Given the description of an element on the screen output the (x, y) to click on. 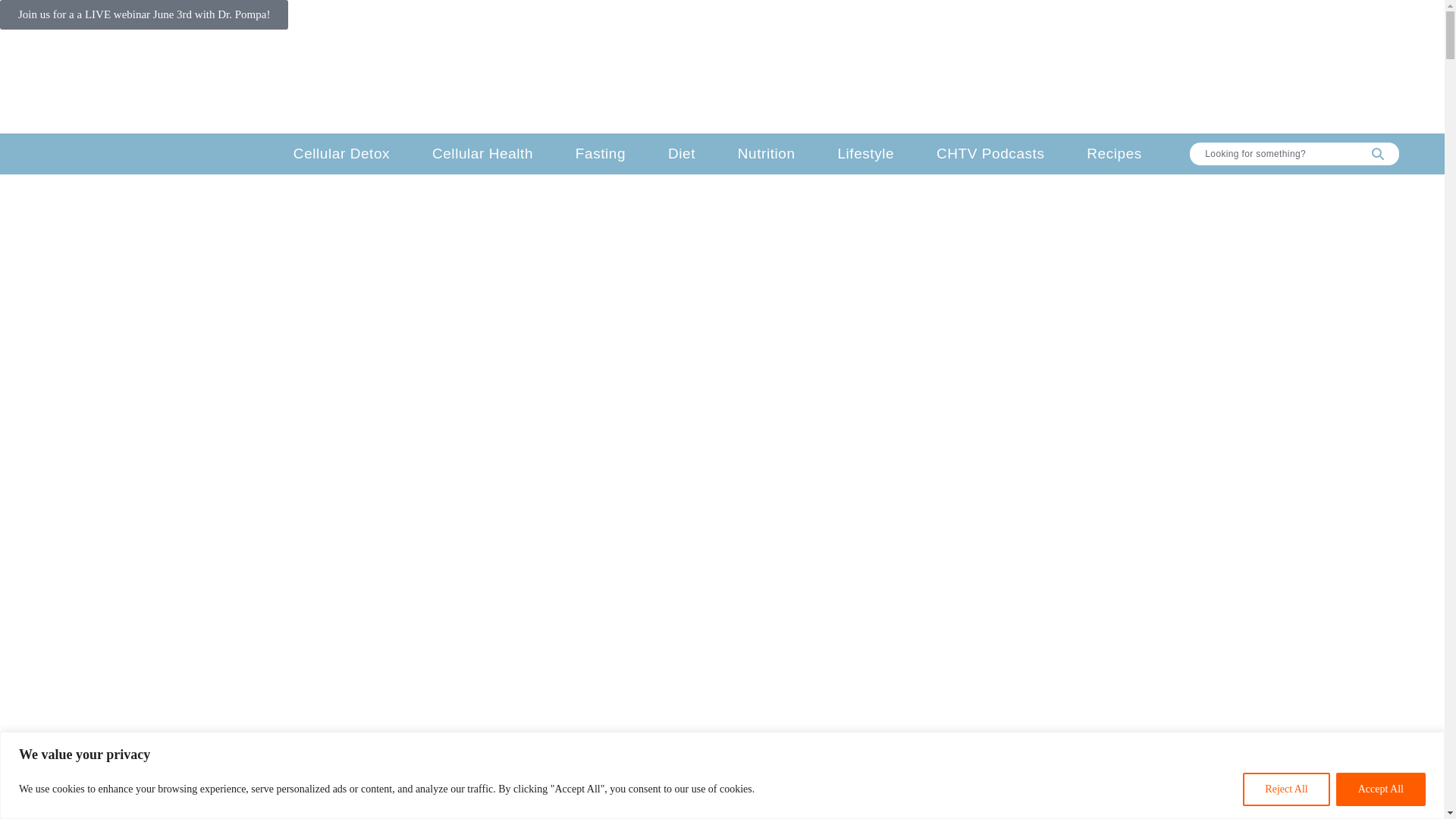
BECOME CERTIFIED (577, 81)
Reject All (1286, 788)
PRACTITIONER SUPPLEMENT LINE (769, 81)
RECOMMENDED READING (979, 81)
Accept All (1380, 788)
ABOUT US (306, 81)
Blubrry Podcast Player (722, 732)
CONTACT US (1124, 81)
BECOME A PATIENT (427, 81)
Search (1377, 153)
Join us for a a LIVE webinar June 3rd with Dr. Pompa! (144, 14)
Search (1272, 153)
